Given the description of an element on the screen output the (x, y) to click on. 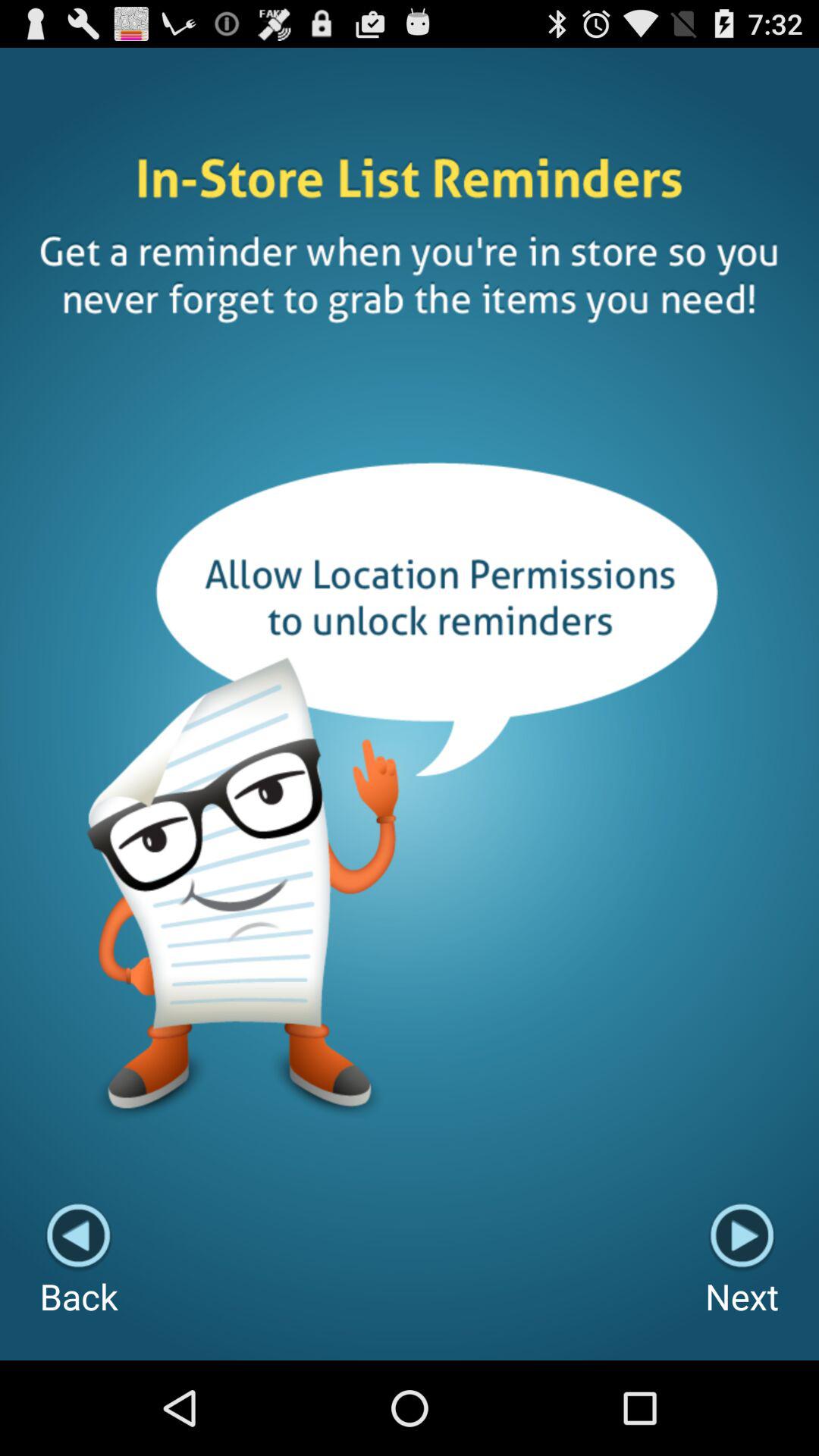
scroll until the next button (742, 1260)
